Given the description of an element on the screen output the (x, y) to click on. 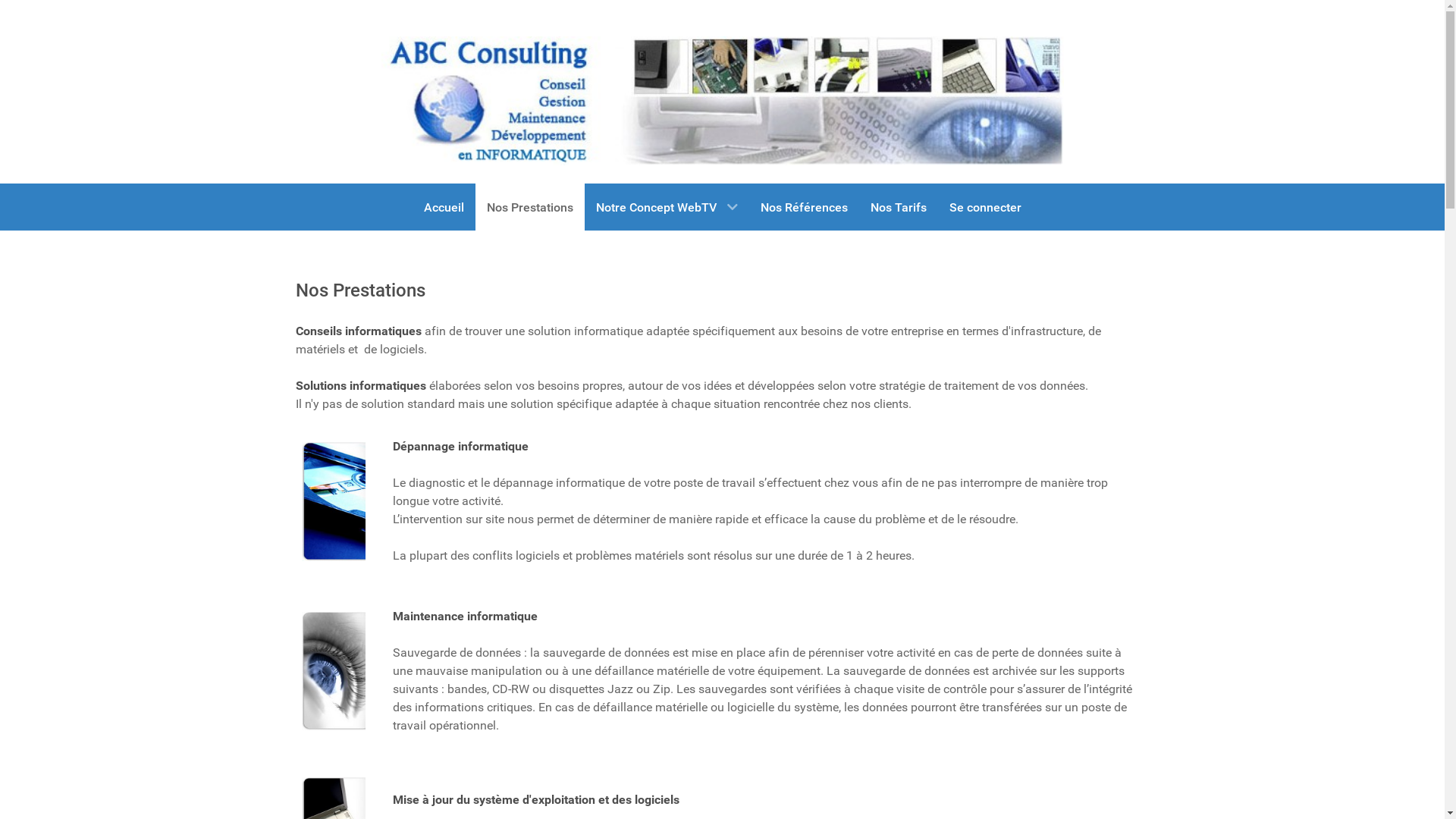
Nos Tarifs Element type: text (897, 206)
Accueil Element type: text (443, 206)
Notre Concept WebTV Element type: text (665, 206)
Nos Prestations Element type: text (528, 206)
Se connecter Element type: text (984, 206)
